Given the description of an element on the screen output the (x, y) to click on. 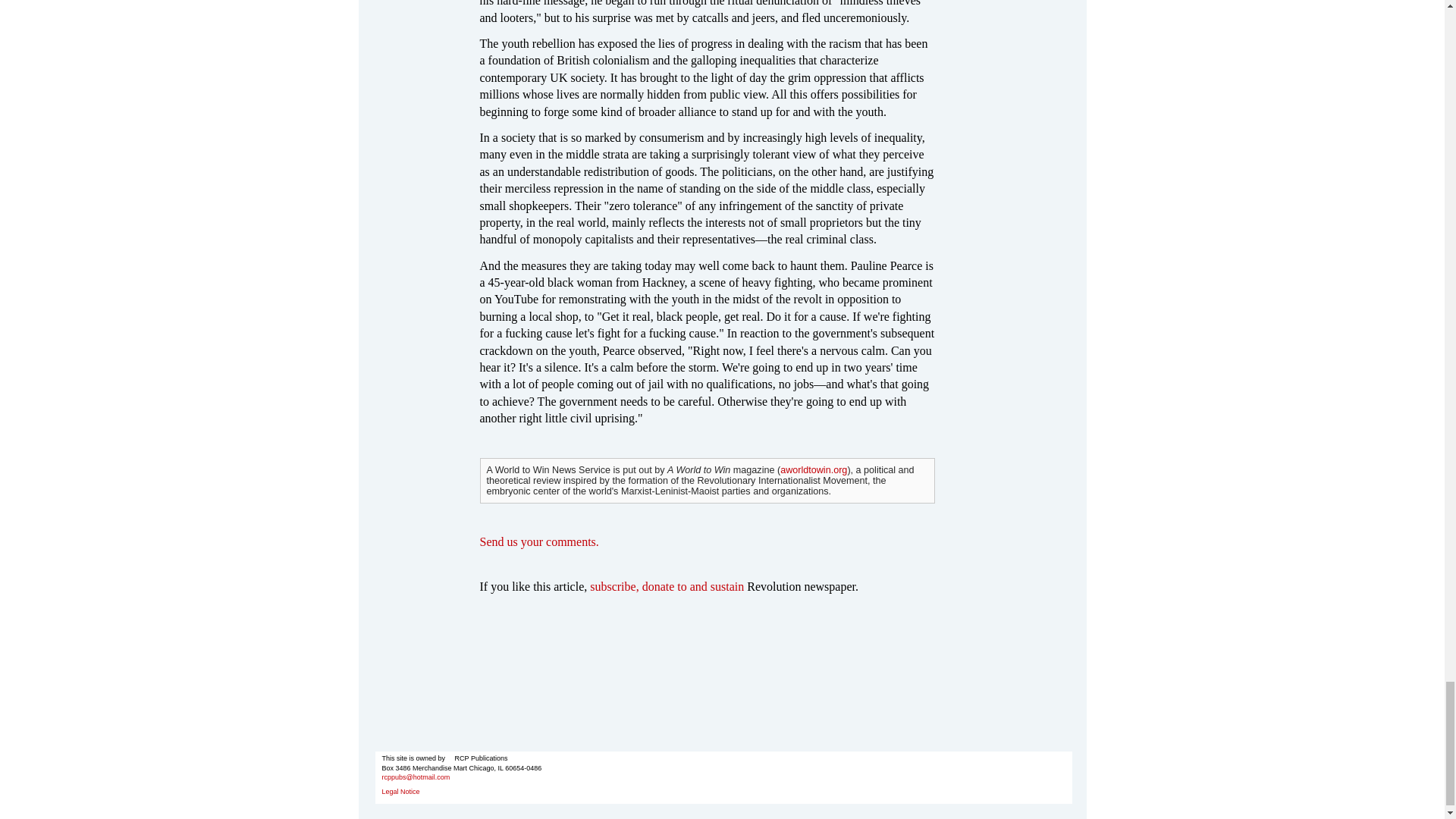
aworldtowin.org (813, 470)
Legal Notice (400, 791)
Send us your comments. (538, 541)
subscribe, donate to and sustain (666, 585)
